Given the description of an element on the screen output the (x, y) to click on. 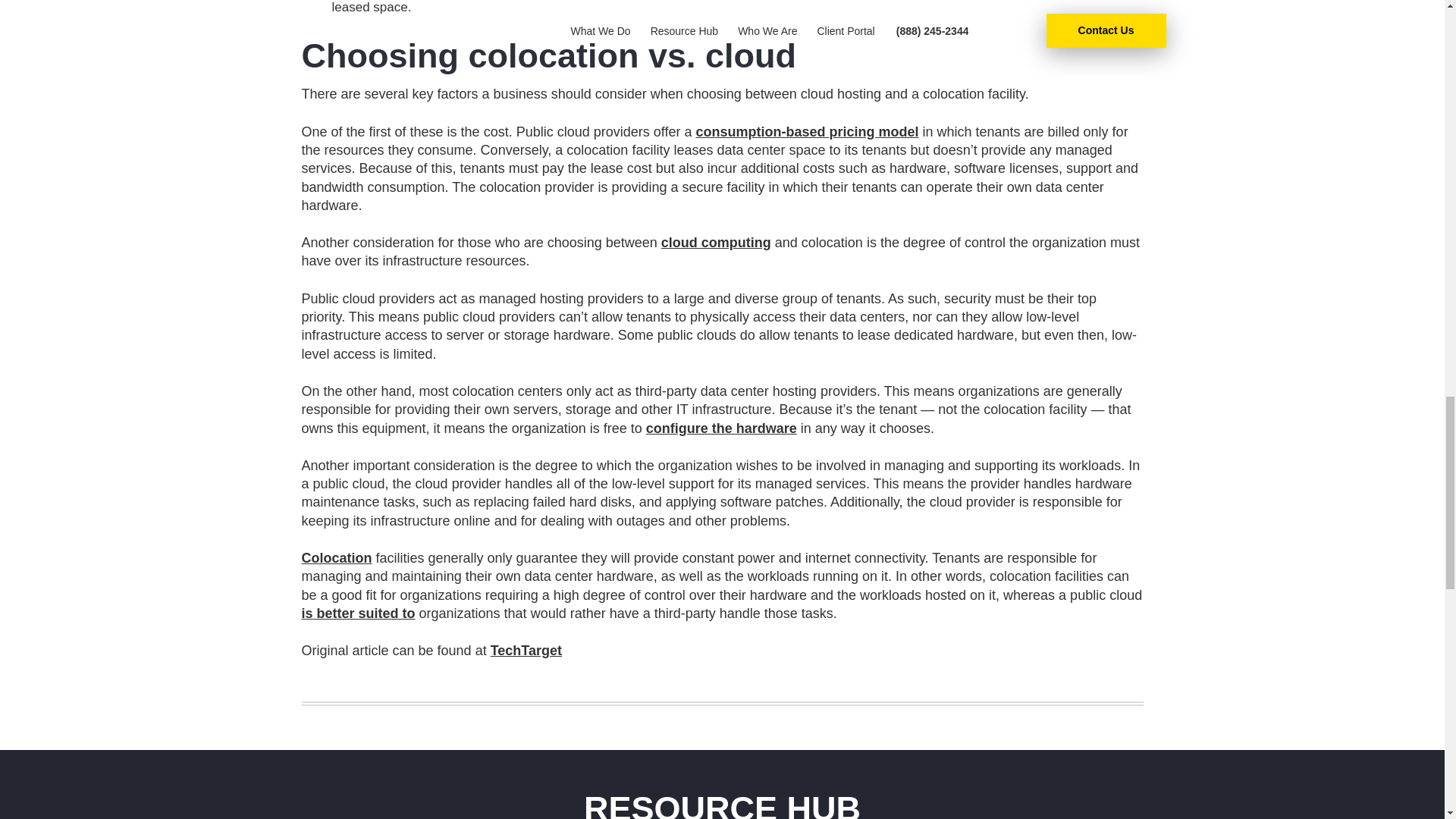
is better suited to (357, 613)
configure the hardware (721, 427)
cloud computing (716, 242)
Colocation (336, 557)
TechTarget (526, 650)
consumption-based pricing model (806, 131)
